Given the description of an element on the screen output the (x, y) to click on. 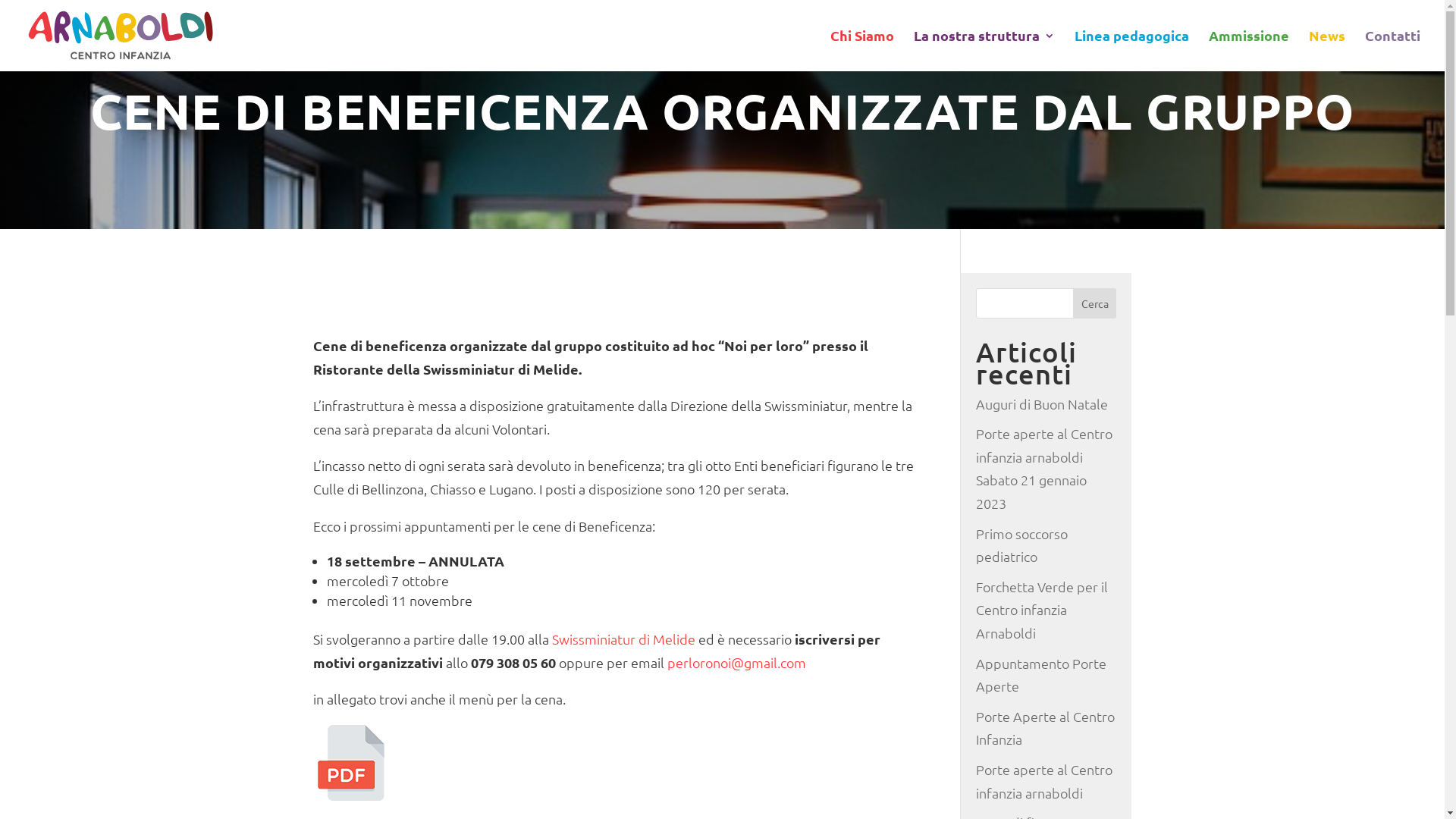
Primo soccorso pediatrico Element type: text (1021, 544)
News Element type: text (1326, 50)
perloronoi@gmail.com Element type: text (736, 662)
Cerca Element type: text (1095, 303)
La nostra struttura Element type: text (983, 50)
Appuntamento Porte Aperte Element type: text (1040, 674)
Linea pedagogica Element type: text (1131, 50)
Contatti Element type: text (1392, 50)
Swissminiatur di Melide Element type: text (623, 638)
Auguri di Buon Natale Element type: text (1041, 403)
Porte Aperte al Centro Infanzia Element type: text (1044, 727)
Porte aperte al Centro infanzia arnaboldi Element type: text (1043, 780)
Chi Siamo Element type: text (862, 50)
Forchetta Verde per il Centro infanzia Arnaboldi Element type: text (1041, 609)
Ammissione Element type: text (1248, 50)
